Given the description of an element on the screen output the (x, y) to click on. 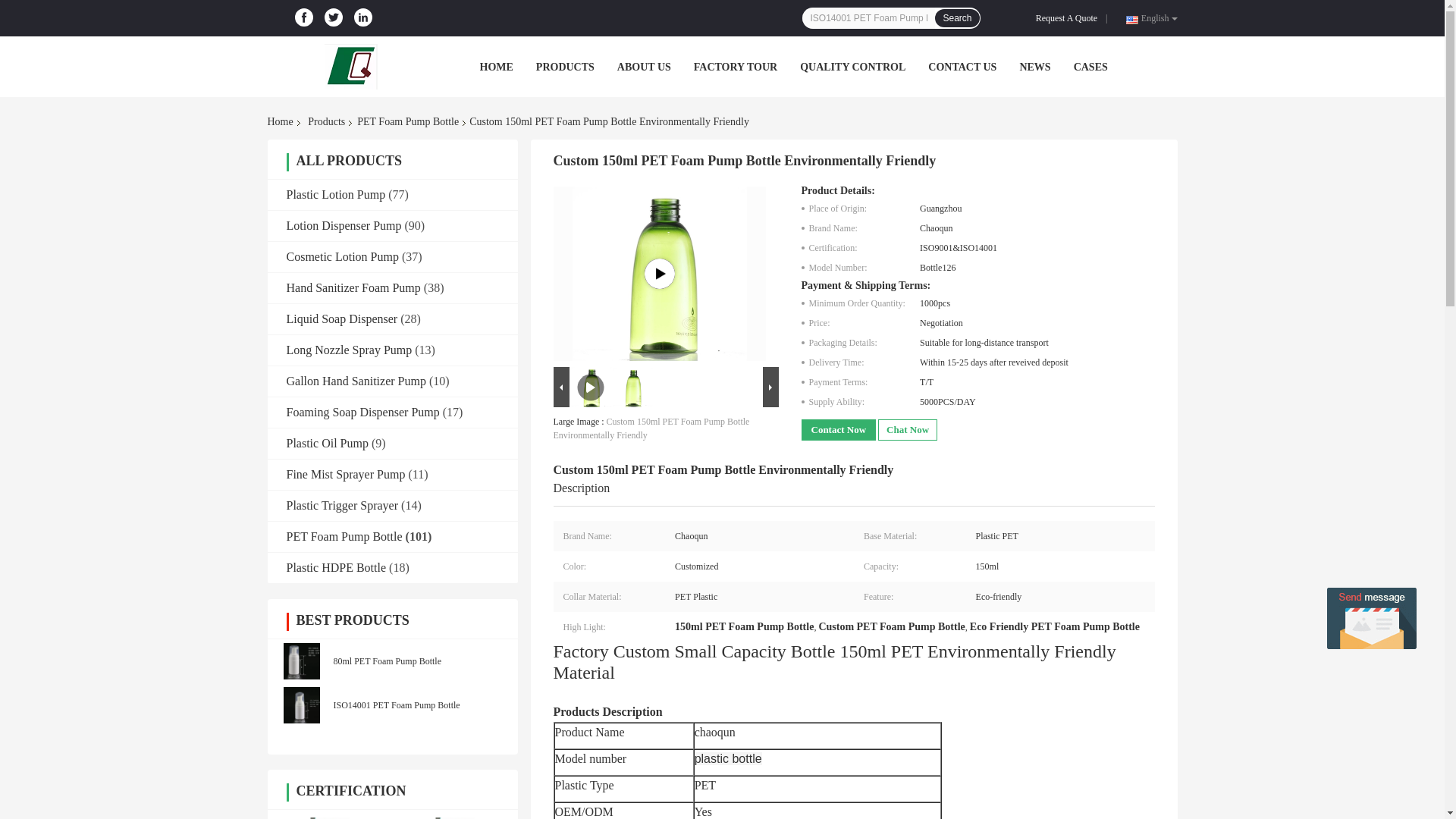
Plastic Lotion Pump (335, 194)
QUALITY CONTROL (852, 66)
Search (956, 18)
FACTORY TOUR (735, 66)
NEWS (1034, 66)
Home (282, 121)
Cosmetic Lotion Pump (342, 256)
Guangzhou Chaoqun Plastic Industry Co., Ltd. Facebook (303, 17)
Lotion Dispenser Pump (343, 225)
HOME (495, 66)
